Given the description of an element on the screen output the (x, y) to click on. 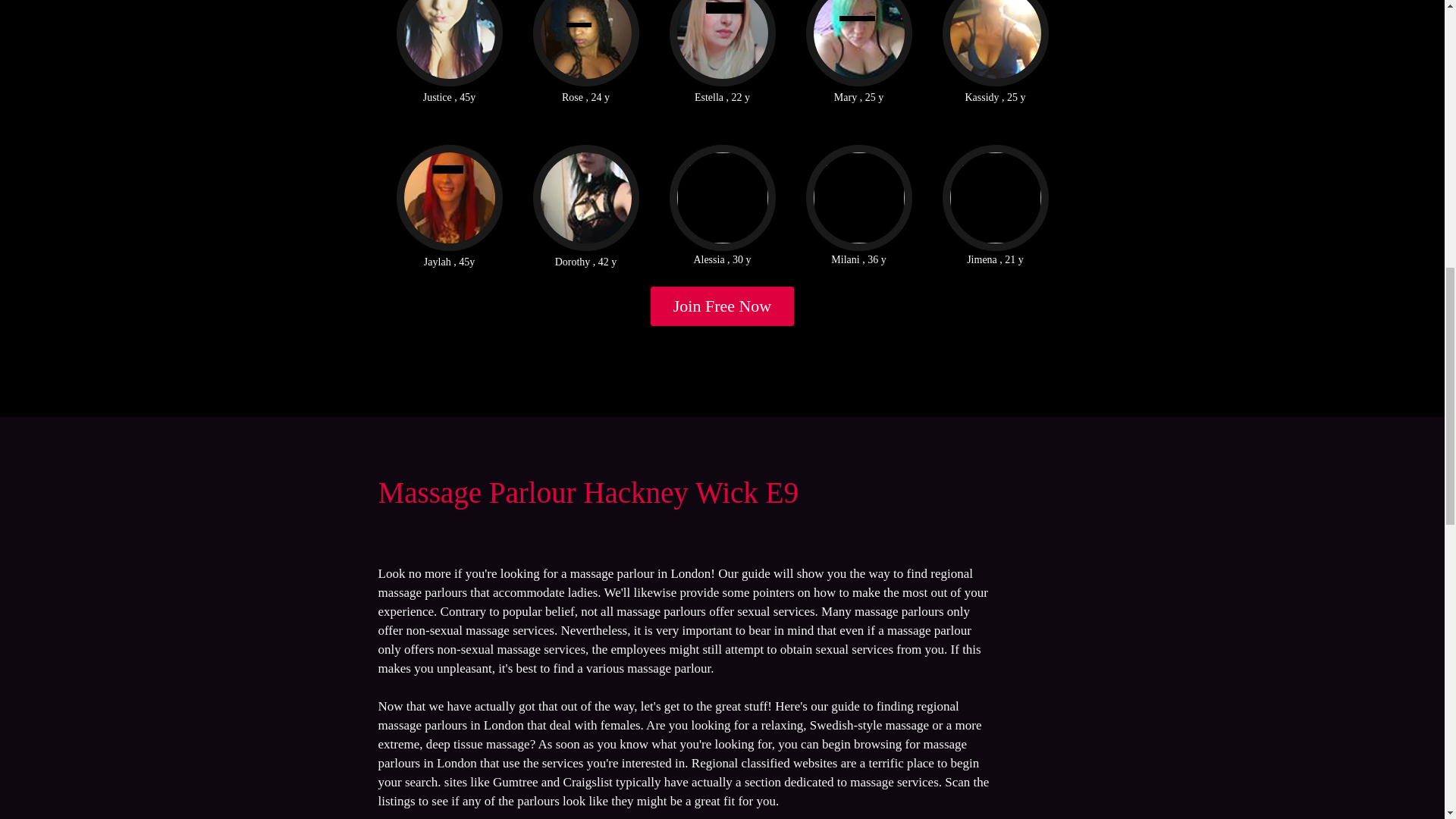
Join (722, 305)
Join Free Now (722, 305)
Massage Parlour Hackney Wick E9 (587, 491)
